Given the description of an element on the screen output the (x, y) to click on. 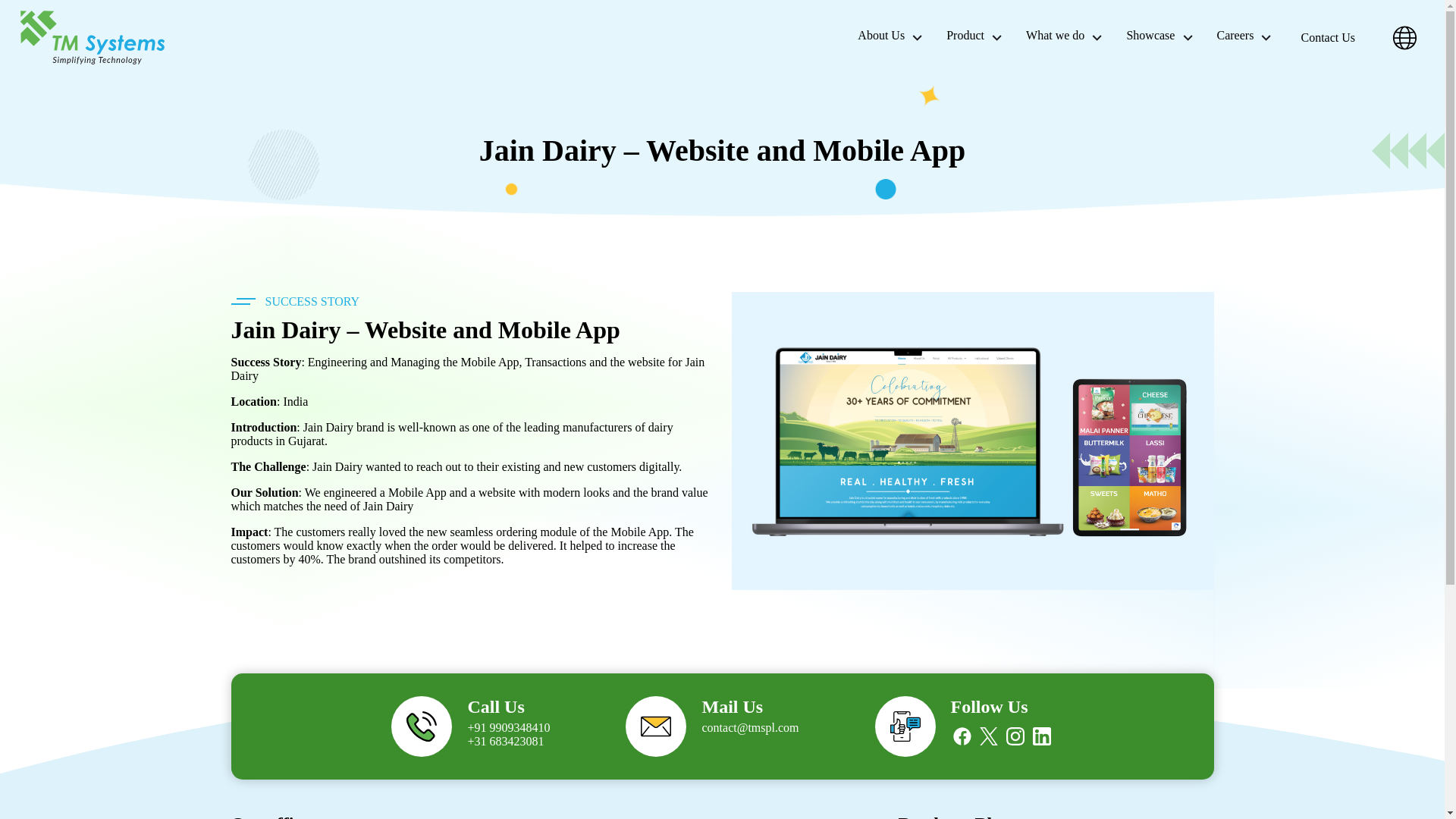
What we do (1066, 37)
Product (975, 37)
Twitter (988, 735)
Linkedin (1041, 735)
Careers (1246, 37)
About Us (892, 37)
Facebook (962, 735)
Instagram (1015, 735)
Contact Us (1327, 37)
Showcase (1160, 37)
